Given the description of an element on the screen output the (x, y) to click on. 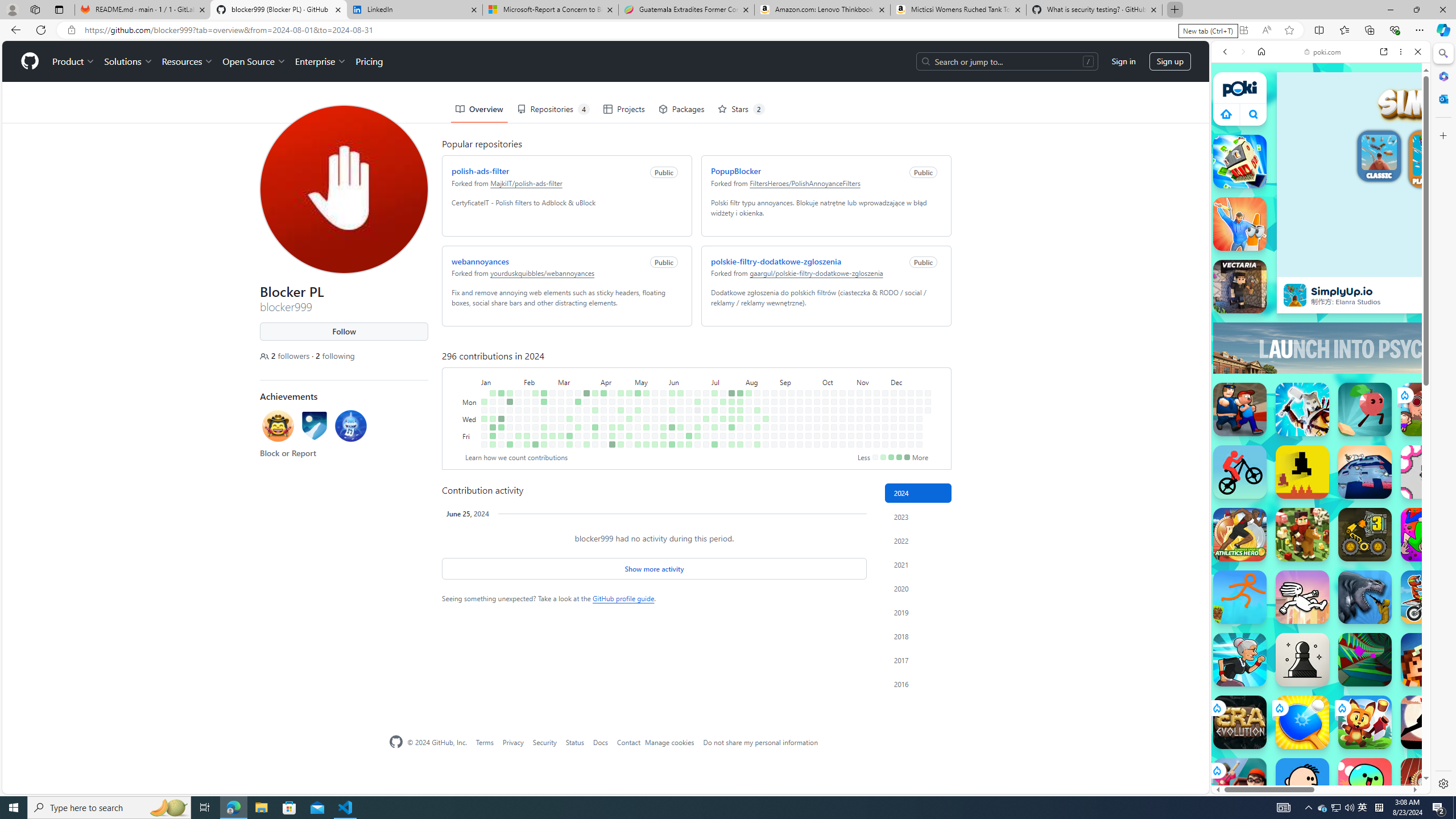
2 contributions on May 1st. (628, 418)
Class: aprWdaSScyiJf4Jvmsx9 (1225, 113)
No contributions on December 8th. (902, 392)
No contributions on December 12th. (902, 427)
2 contributions on February 24th. (543, 444)
Security (544, 741)
No contributions on March 7th. (560, 427)
Combat Reloaded Combat Reloaded poki.com (1349, 548)
Sports Games (1320, 379)
No contributions on April 26th. (620, 435)
2 contributions on July 15th. (723, 401)
No contributions on June 18th. (688, 410)
No contributions on December 16th. (910, 401)
Simply Prop Hunt Simply Prop Hunt (1239, 223)
